Given the description of an element on the screen output the (x, y) to click on. 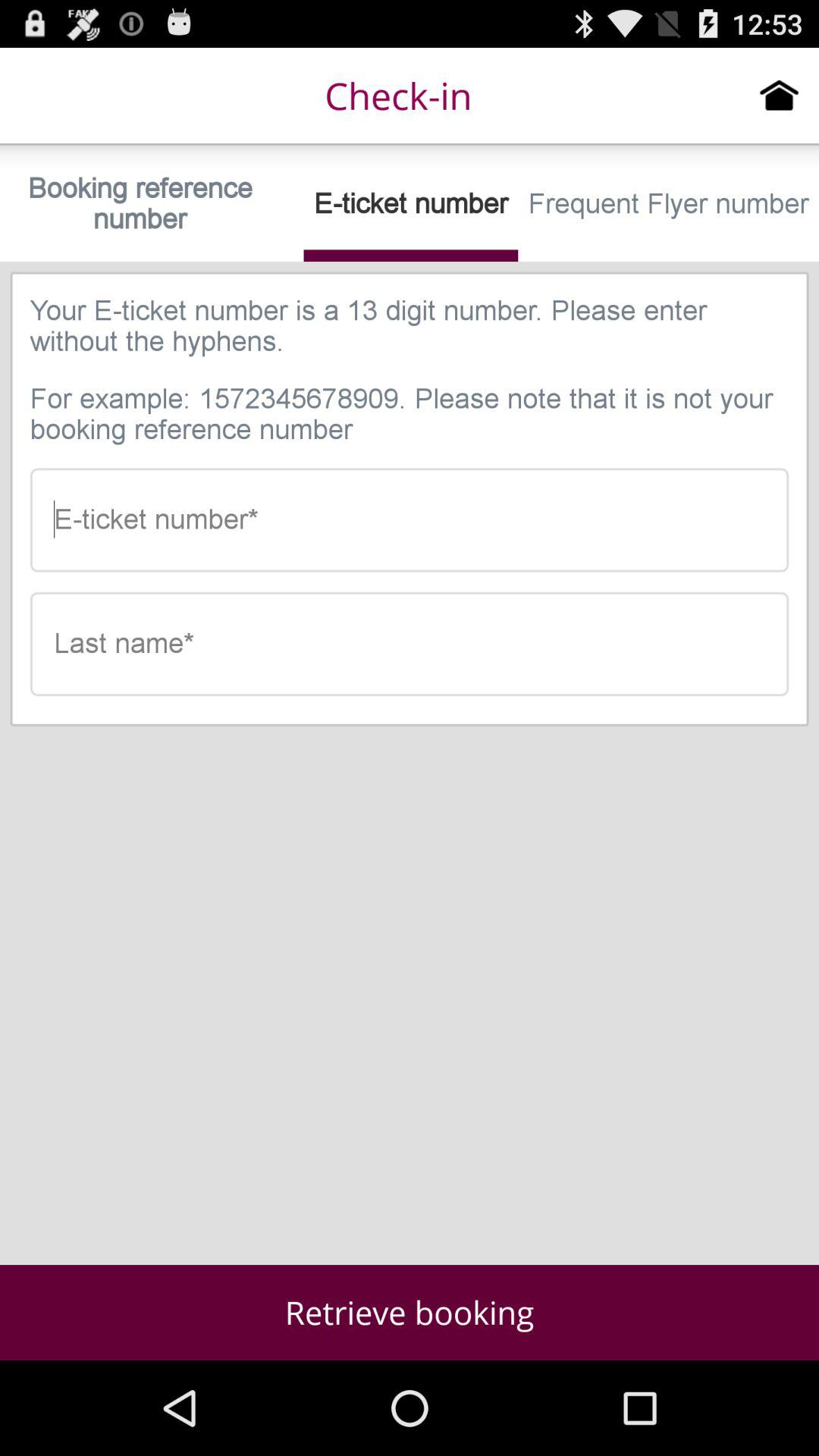
click icon next to check-in (779, 95)
